Given the description of an element on the screen output the (x, y) to click on. 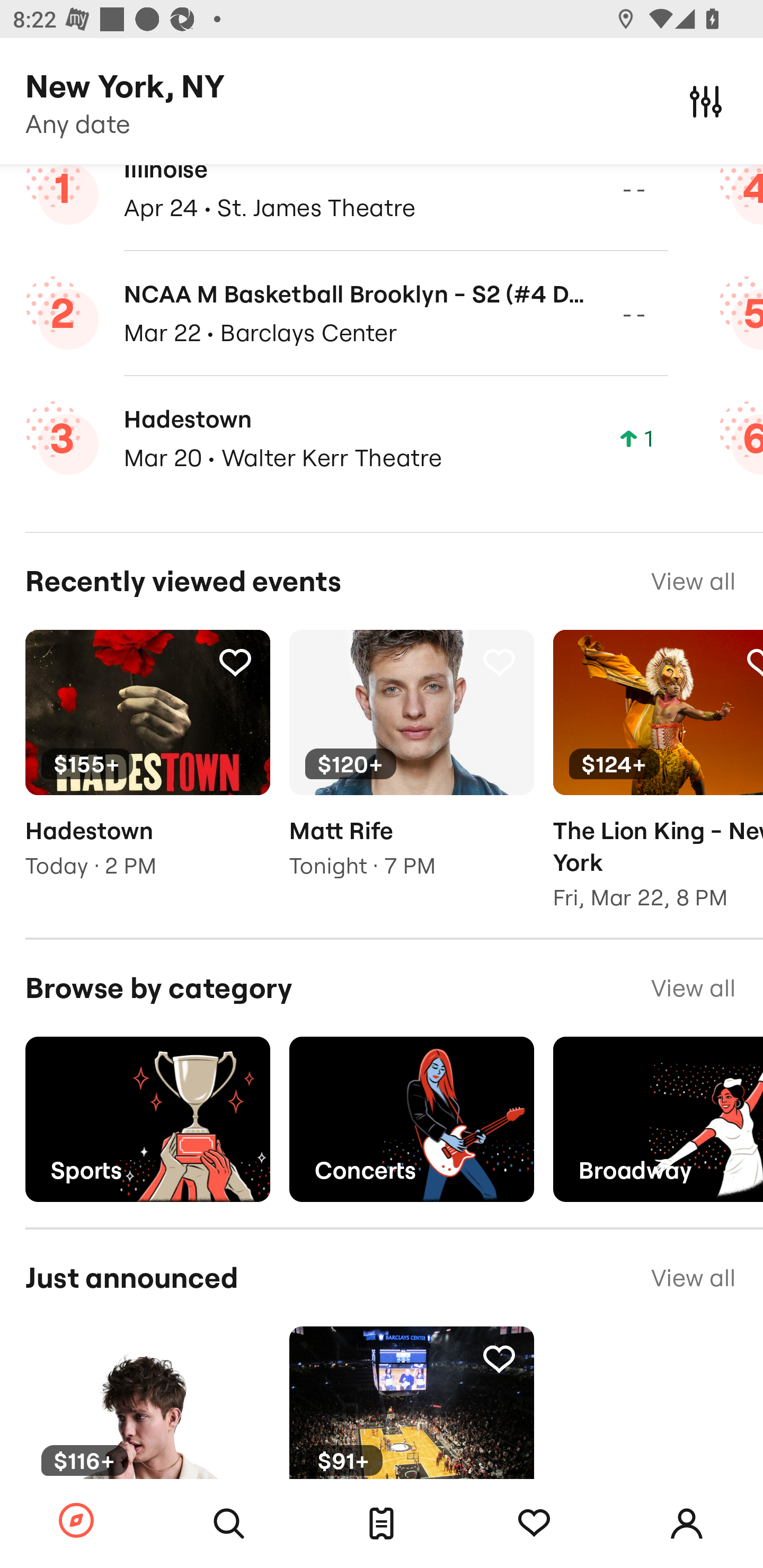
Filters (705, 100)
View all (693, 581)
Tracking $155+ Hadestown Today · 2 PM (147, 767)
Tracking $120+ Matt Rife Tonight · 7 PM (411, 767)
Tracking (234, 661)
Tracking (498, 661)
View all (693, 987)
Sports (147, 1119)
Concerts (411, 1119)
Broadway (658, 1119)
View all (693, 1277)
Tracking $91+ Bulls at Nets Fri, Mar 29, 7:30 PM (411, 1447)
Tracking (234, 1357)
Tracking (498, 1357)
Browse (76, 1521)
Search (228, 1523)
Tickets (381, 1523)
Tracking (533, 1523)
Account (686, 1523)
